Given the description of an element on the screen output the (x, y) to click on. 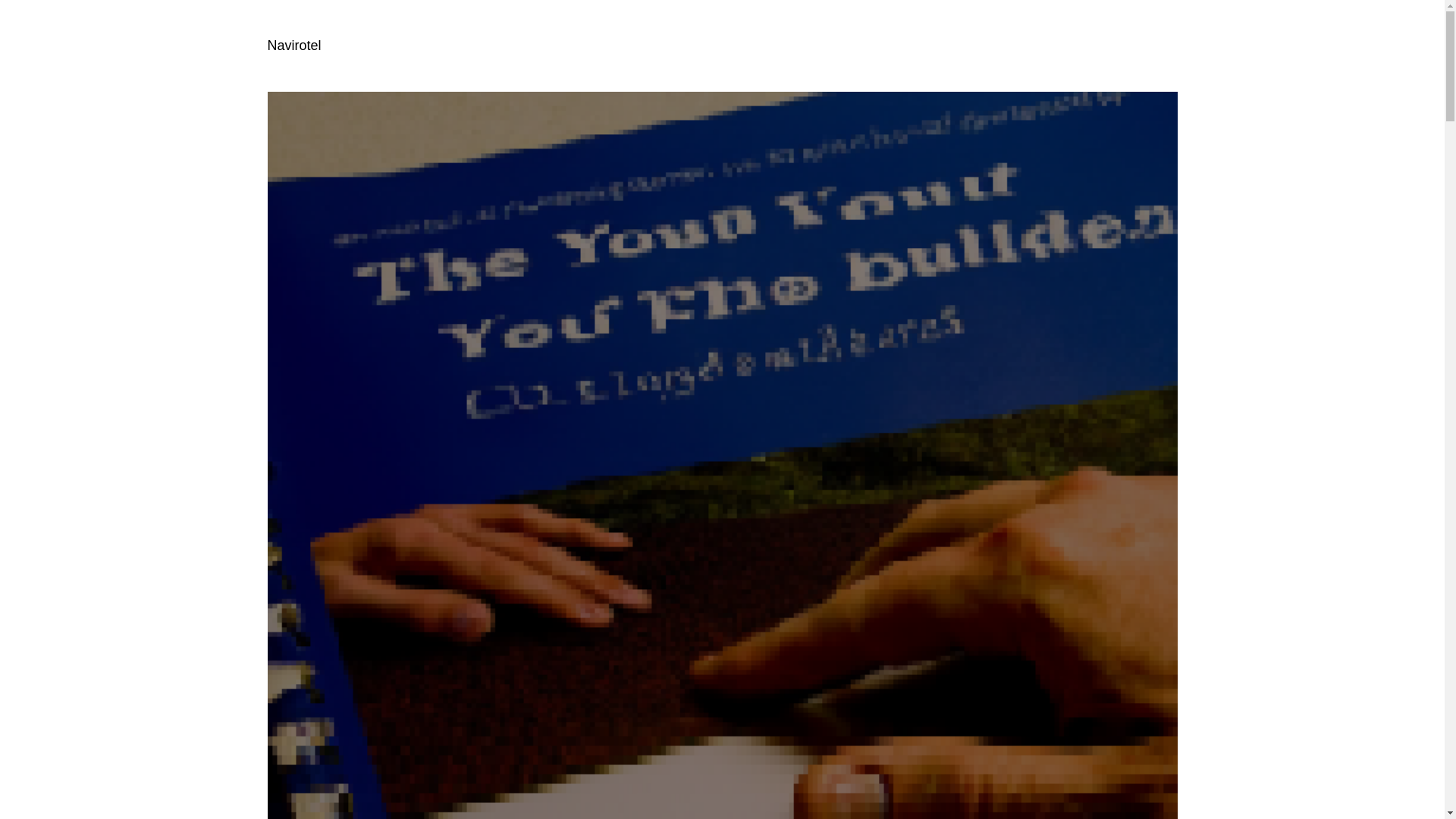
Navirotel (293, 45)
